Given the description of an element on the screen output the (x, y) to click on. 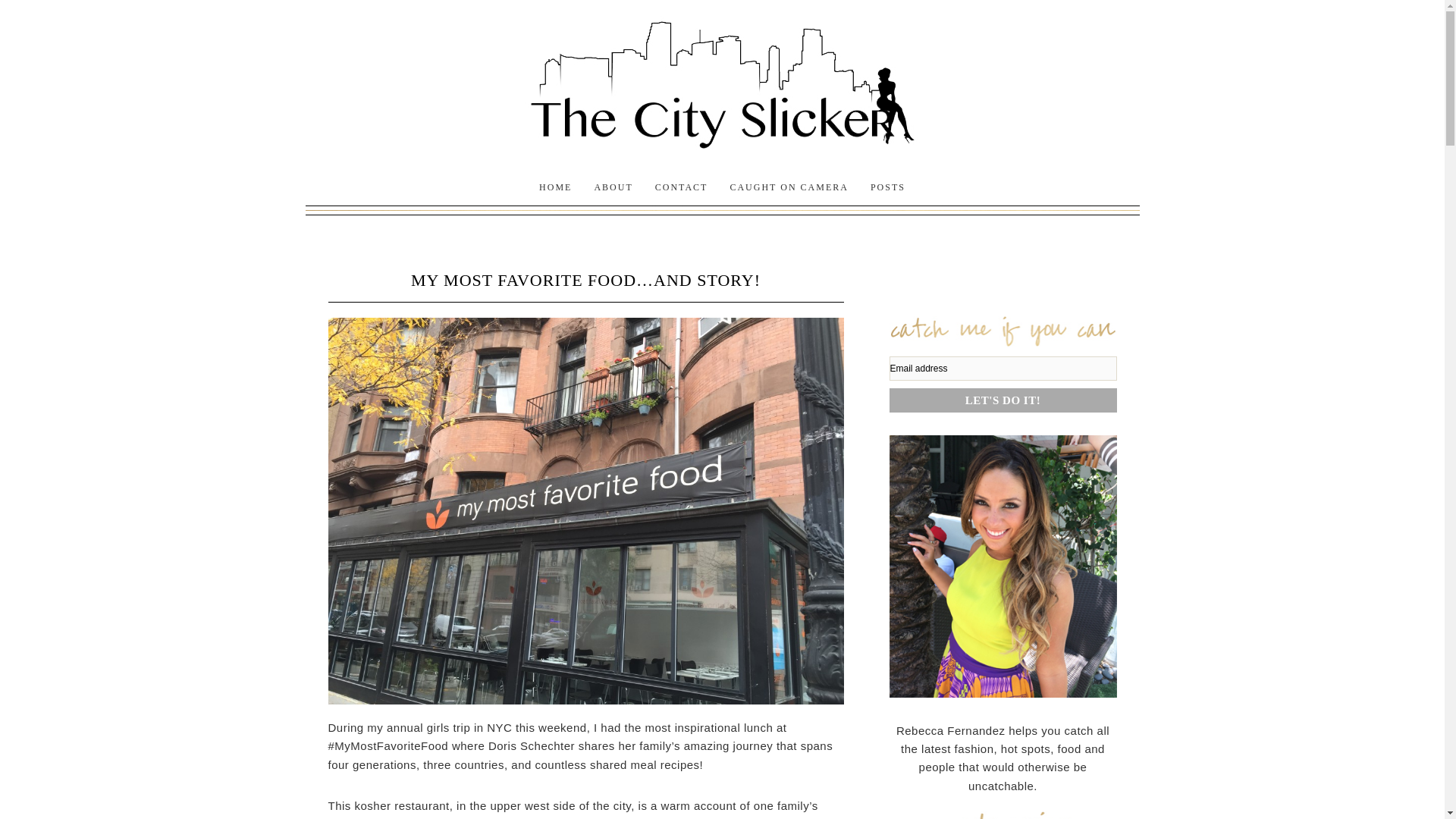
ABOUT (613, 187)
Let's Do It! (1002, 400)
CAUGHT ON CAMERA (788, 187)
POSTS (887, 187)
HOME (554, 187)
Let's Do It! (1002, 400)
CONTACT (681, 187)
THE CITY SLICKER (721, 77)
